Given the description of an element on the screen output the (x, y) to click on. 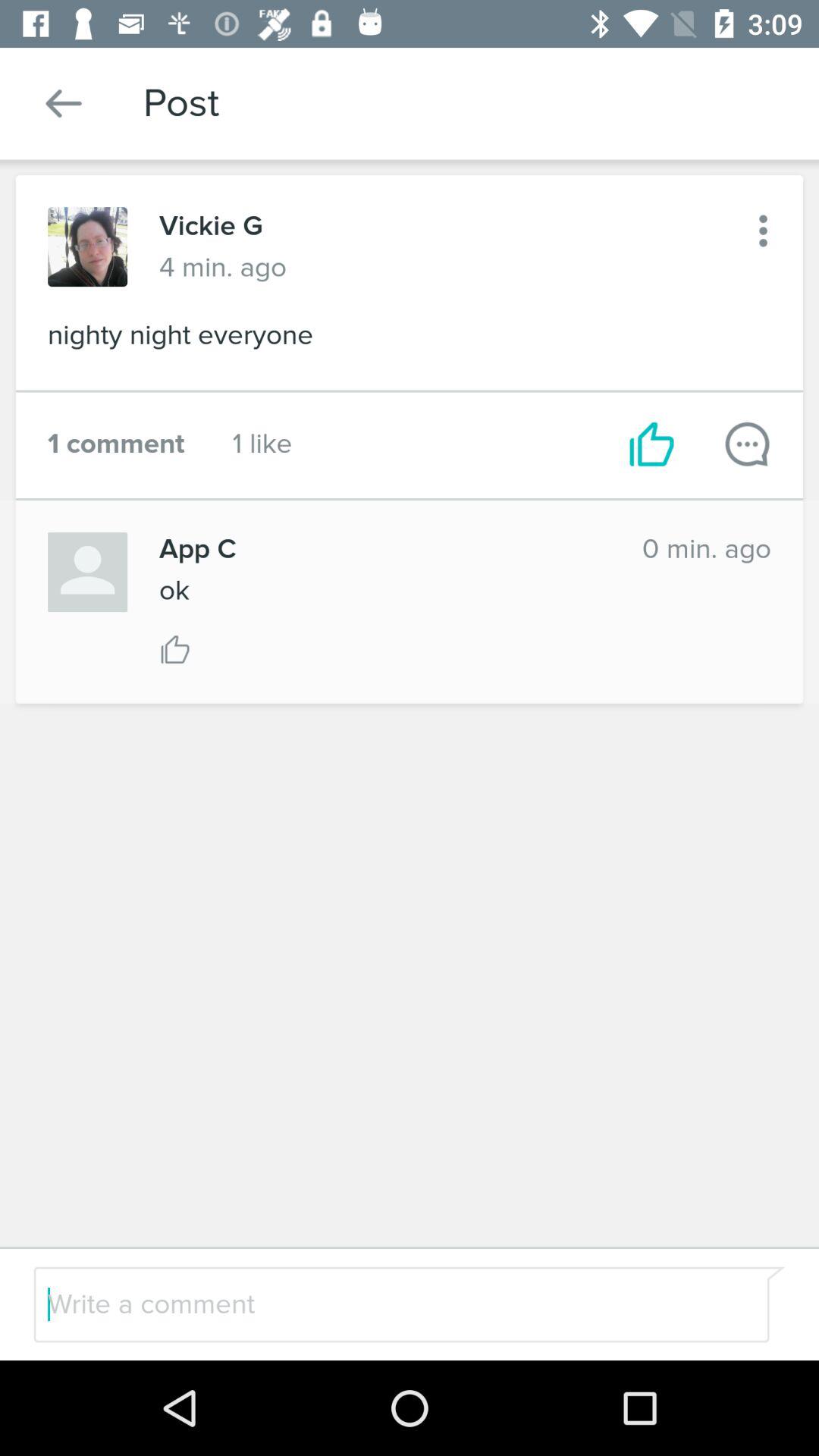
options (763, 230)
